Given the description of an element on the screen output the (x, y) to click on. 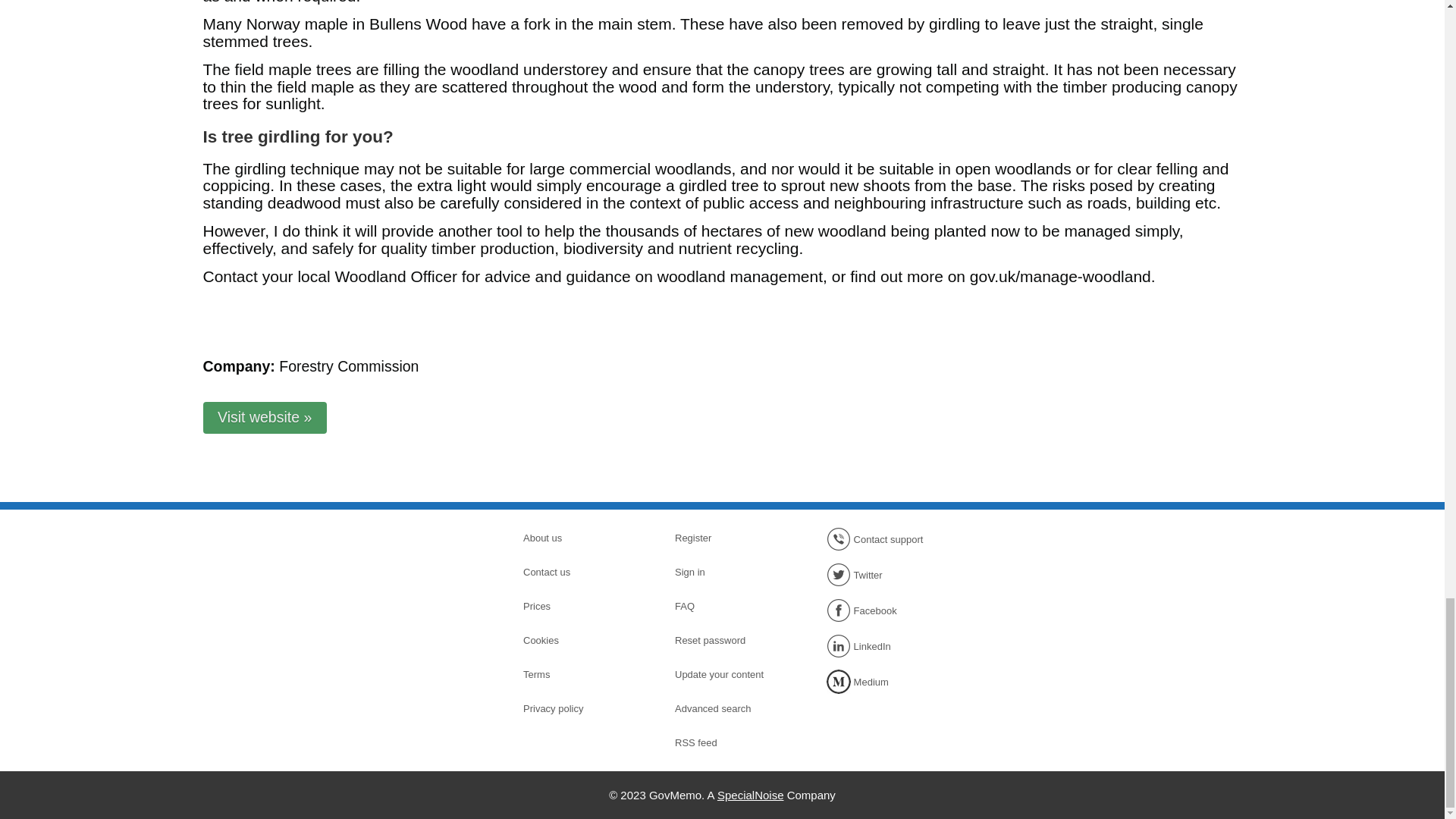
Reset password (727, 639)
Update your content (727, 674)
Sign in (727, 571)
Privacy policy (575, 707)
Terms (575, 674)
About us (575, 538)
Advanced search (727, 707)
Contact us (575, 571)
FAQ (727, 606)
Contact support (880, 539)
